Given the description of an element on the screen output the (x, y) to click on. 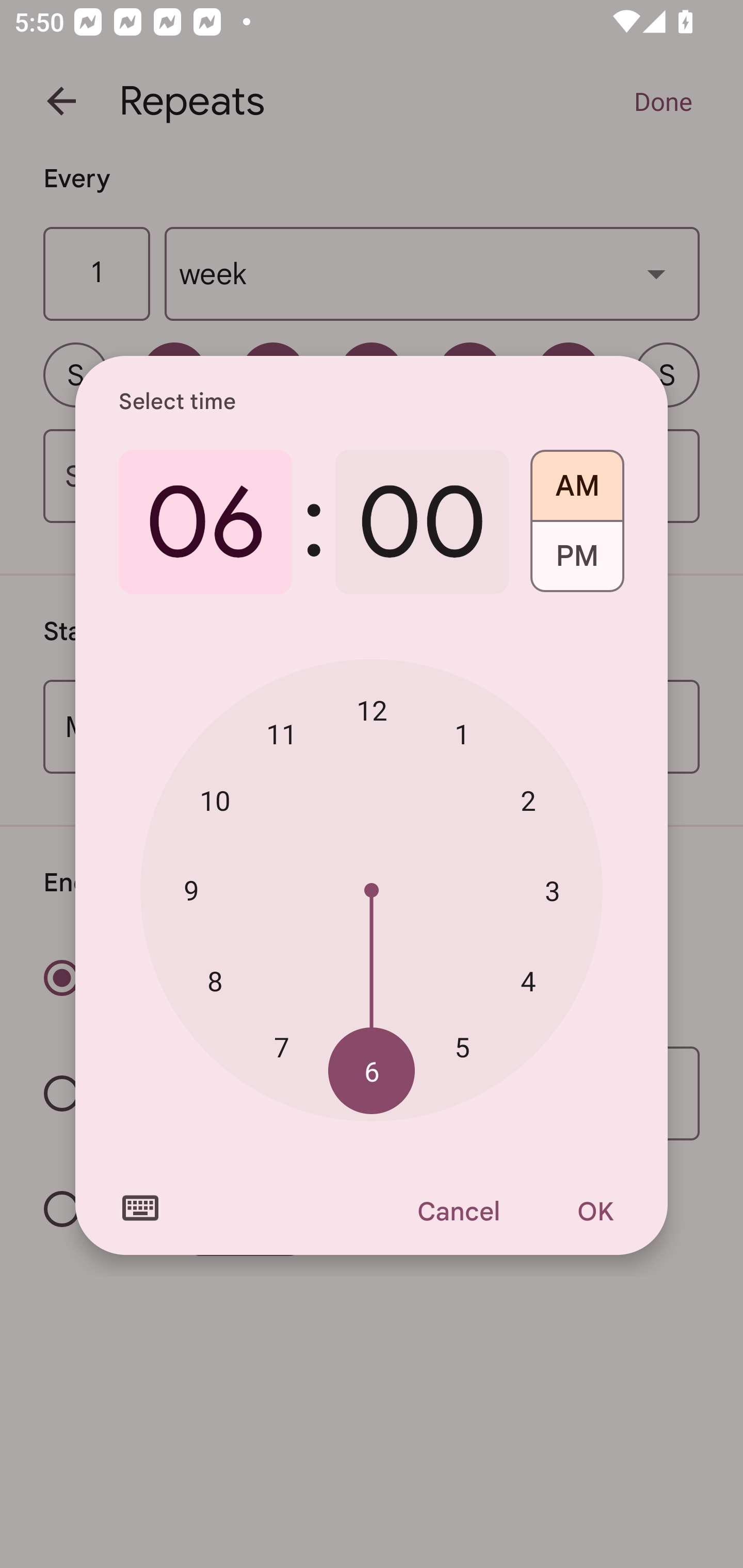
AM (577, 478)
06 6 o'clock (204, 522)
00 0 minutes (421, 522)
PM (577, 563)
12 12 o'clock (371, 710)
11 11 o'clock (281, 733)
1 1 o'clock (462, 733)
10 10 o'clock (214, 800)
2 2 o'clock (528, 800)
9 9 o'clock (190, 889)
3 3 o'clock (551, 890)
8 8 o'clock (214, 980)
4 4 o'clock (528, 980)
7 7 o'clock (281, 1046)
5 5 o'clock (462, 1046)
6 6 o'clock (371, 1071)
Switch to text input mode for the time input. (140, 1208)
Cancel (458, 1211)
OK (595, 1211)
